Given the description of an element on the screen output the (x, y) to click on. 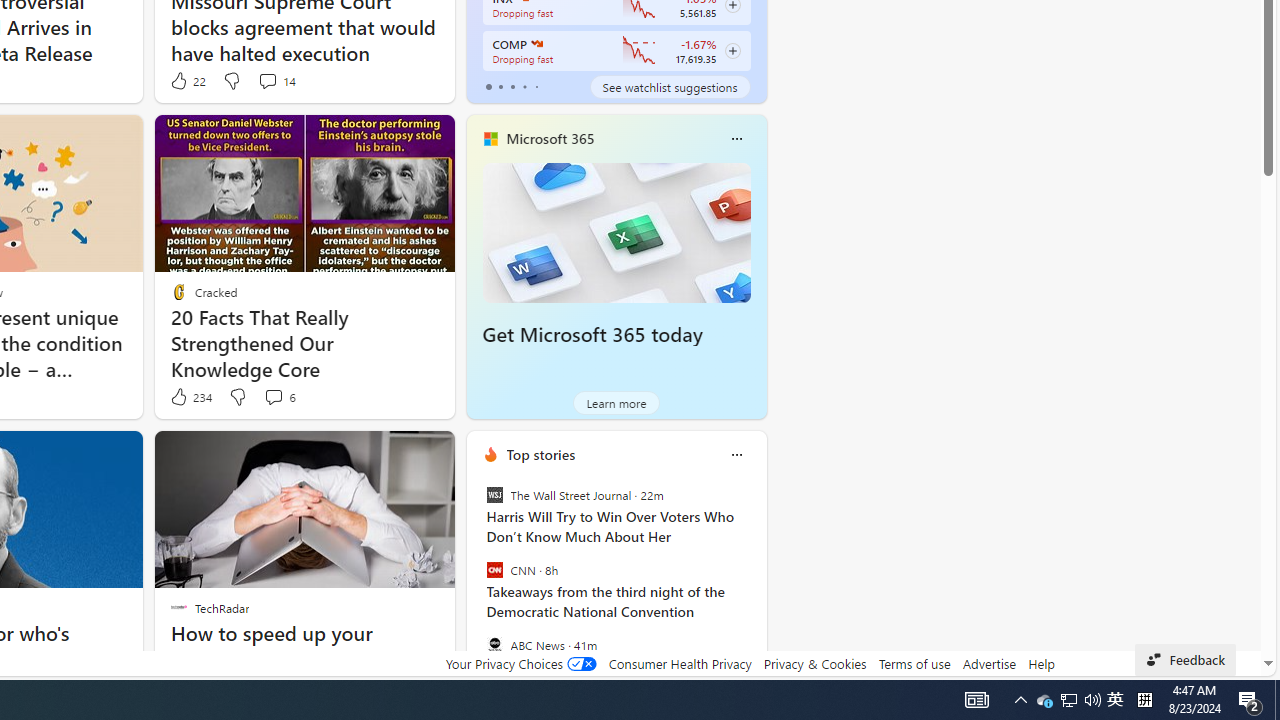
Learn more (616, 402)
View comments 14 Comment (276, 80)
View comments 6 Comment (273, 396)
Get Microsoft 365 today (616, 232)
Class: icon-img (736, 454)
ABC News (494, 644)
previous (476, 583)
View comments 6 Comment (279, 397)
tab-0 (488, 86)
The Wall Street Journal (494, 494)
